Given the description of an element on the screen output the (x, y) to click on. 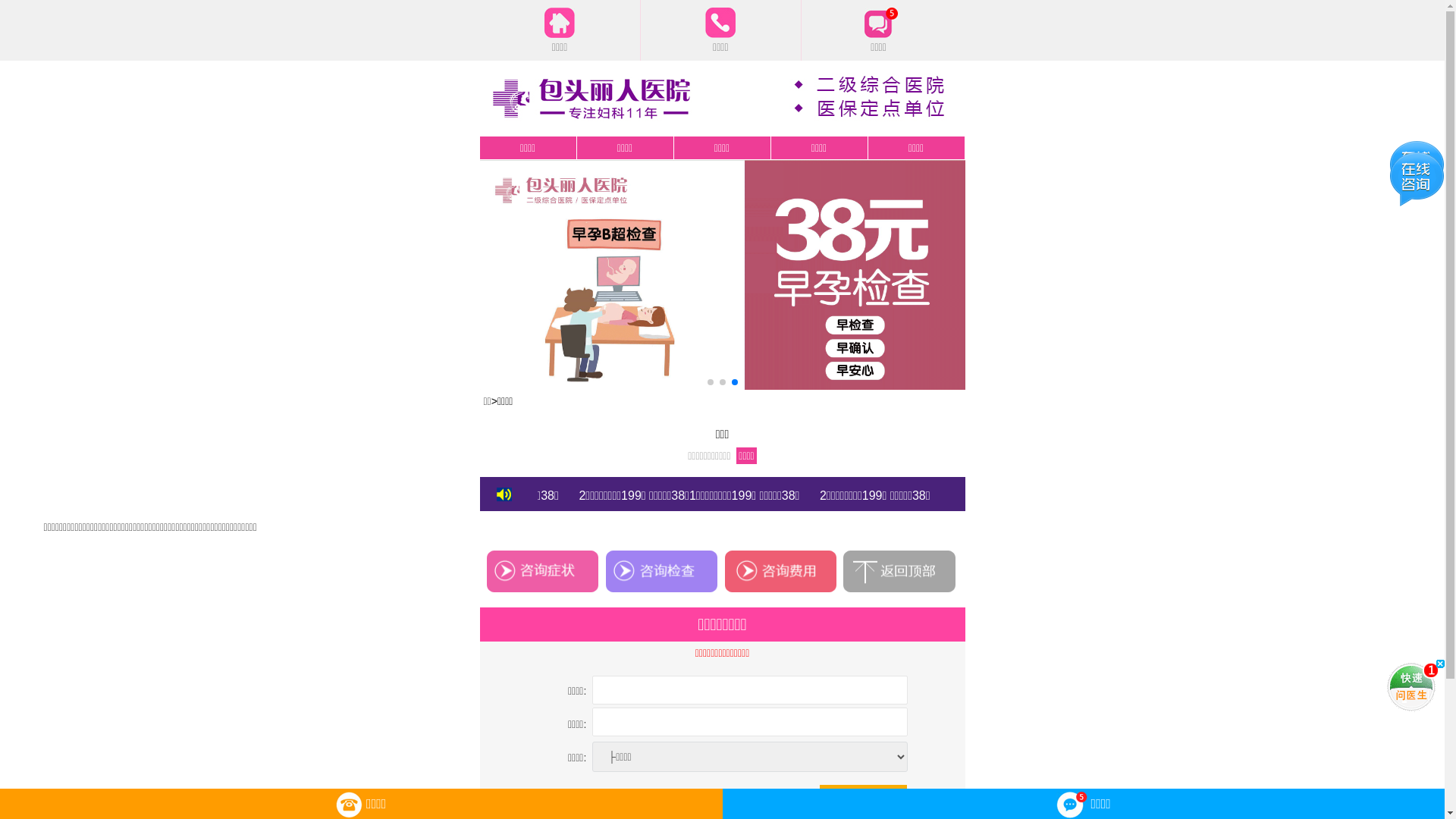
checkbox Element type: text (699, 796)
